Given the description of an element on the screen output the (x, y) to click on. 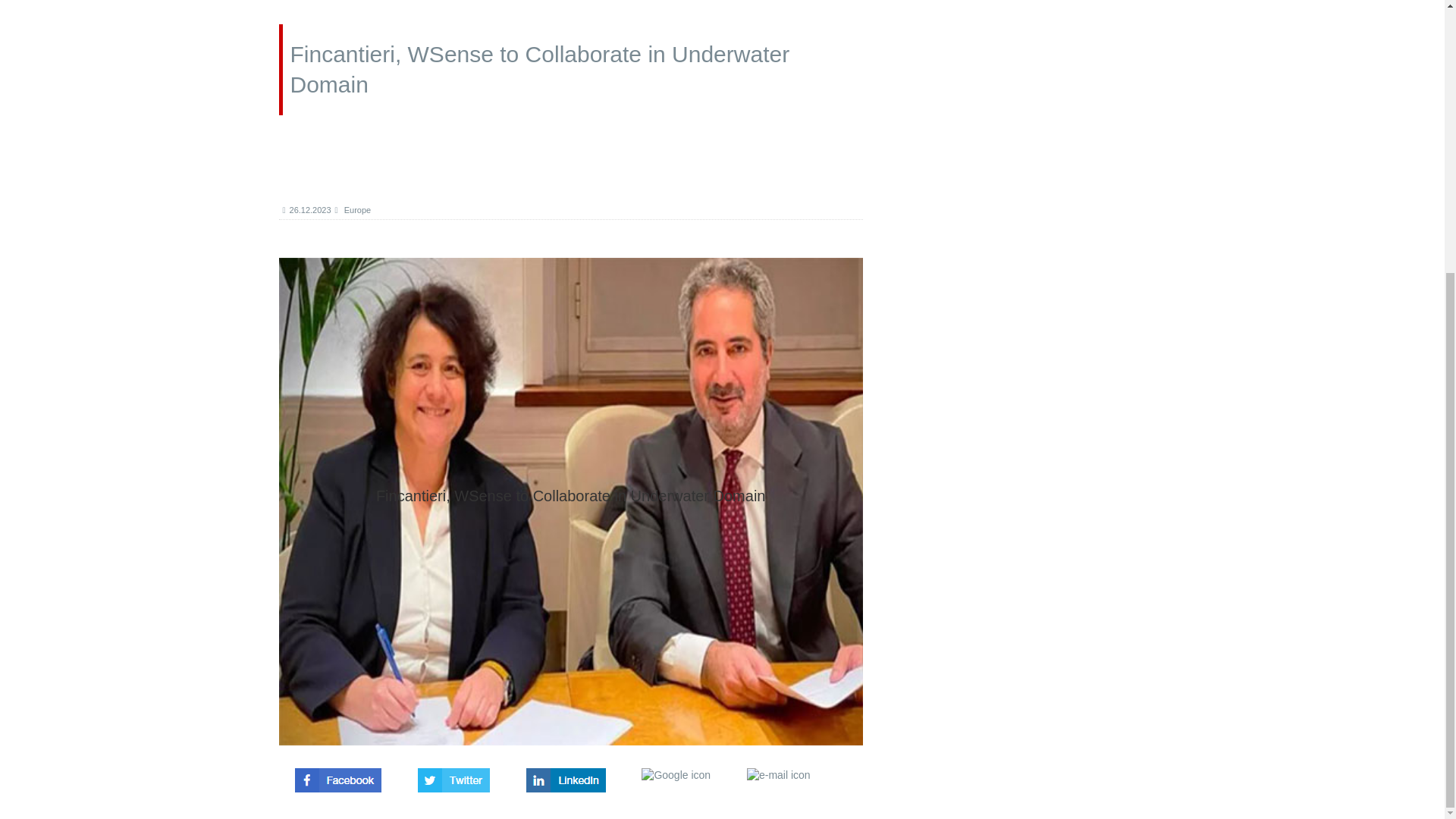
Tweet this (453, 775)
Europe (352, 209)
Share on LinkedIn (565, 775)
Visit defaiya on Facebook (338, 775)
